Given the description of an element on the screen output the (x, y) to click on. 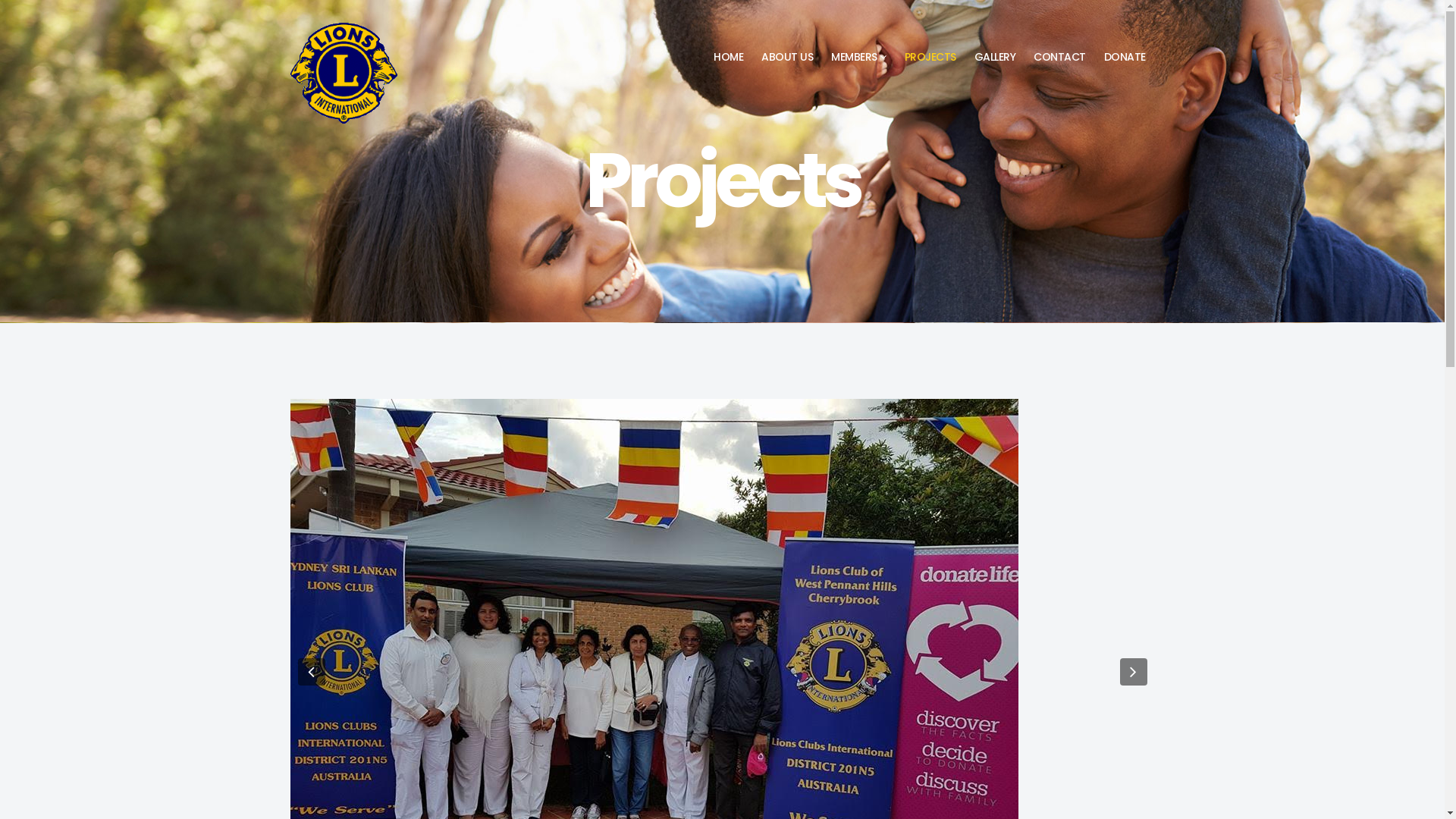
DONATE Element type: text (1124, 56)
MEMBERS Element type: text (858, 56)
GALLERY Element type: text (994, 56)
Next Element type: text (1132, 671)
HOME Element type: text (728, 56)
ABOUT US Element type: text (787, 56)
CONTACT Element type: text (1059, 56)
Previous Element type: text (310, 671)
PROJECTS Element type: text (929, 56)
